Given the description of an element on the screen output the (x, y) to click on. 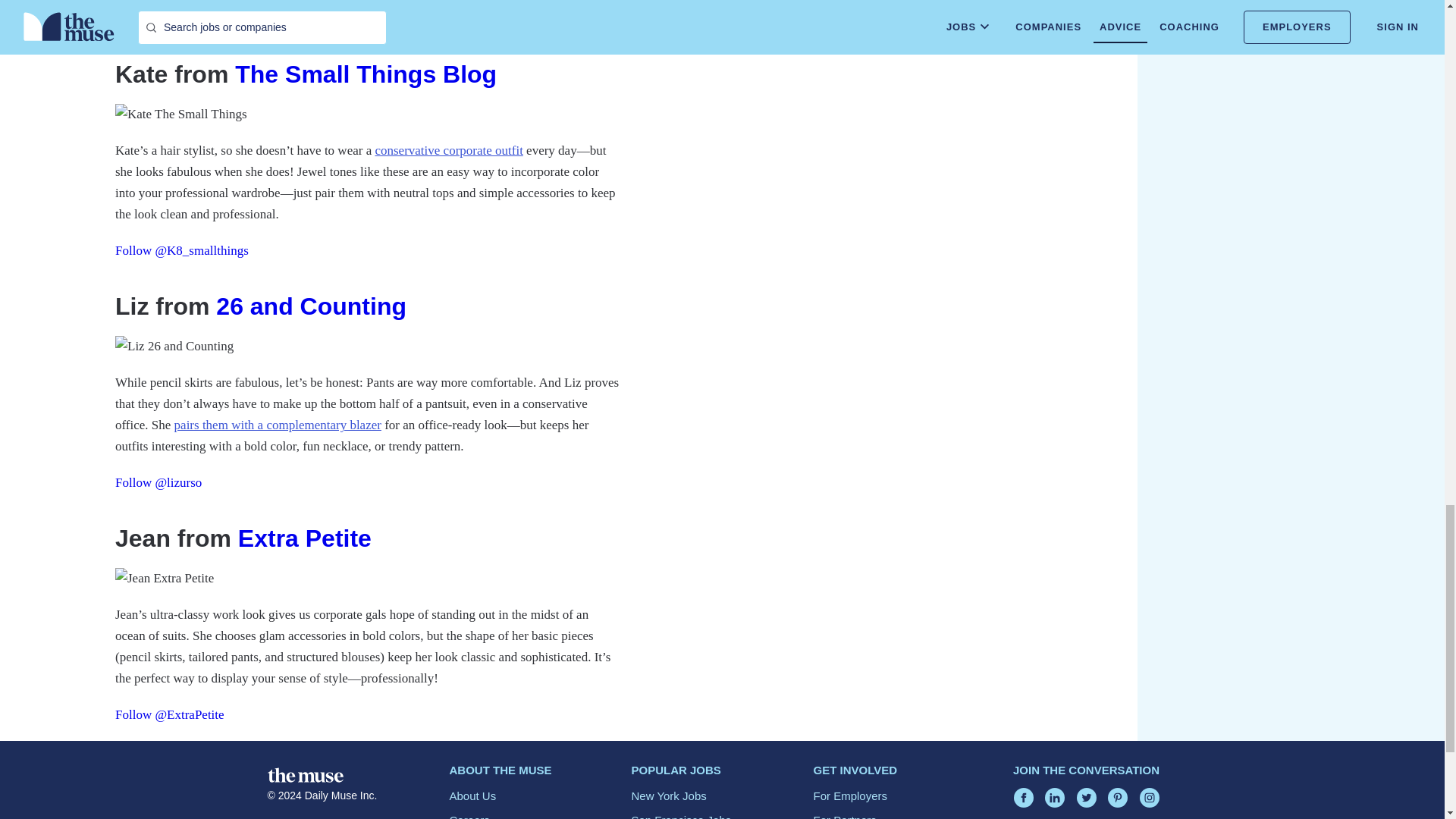
5 Perfect Ways to Wear a Blazer (277, 424)
The Muse LogoA logo with "the muse" in white text. (304, 774)
